Given the description of an element on the screen output the (x, y) to click on. 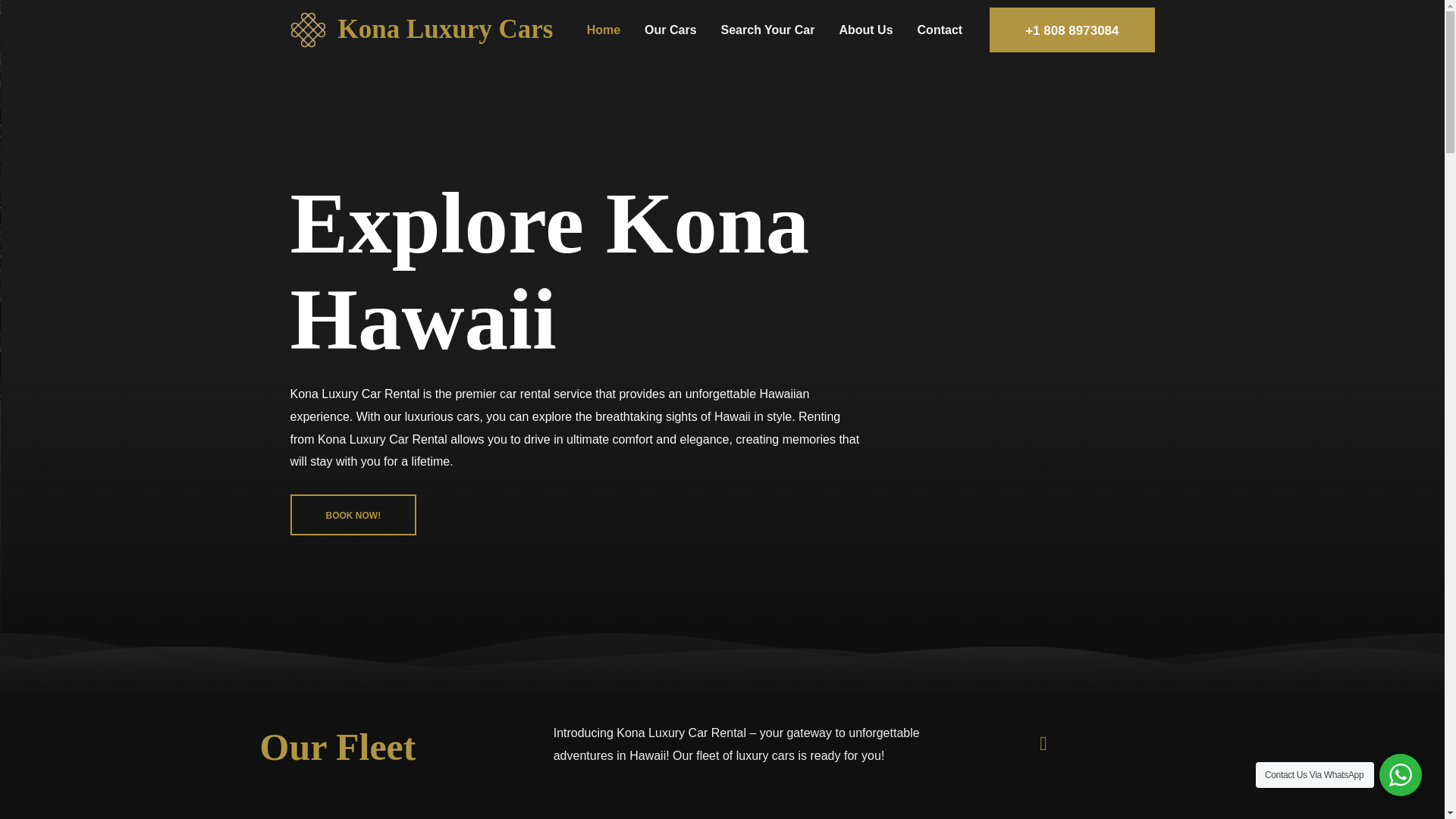
Kona Luxury Cars (445, 29)
Search Your Car (768, 29)
Our Cars (669, 29)
Home (603, 29)
BOOK NOW! (352, 514)
About Us (865, 29)
Contact (940, 29)
